Given the description of an element on the screen output the (x, y) to click on. 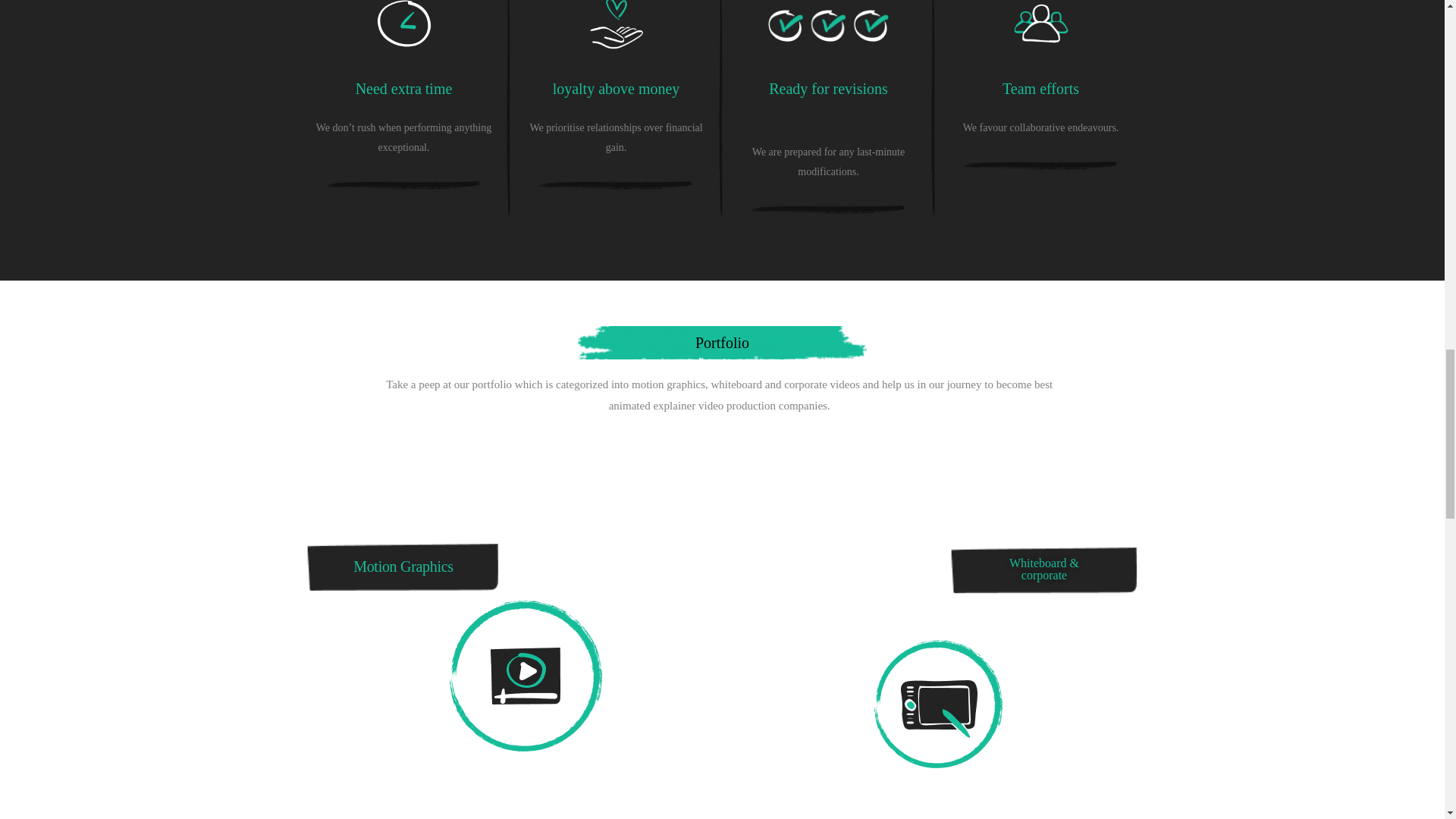
Motion Graphics (403, 566)
